Given the description of an element on the screen output the (x, y) to click on. 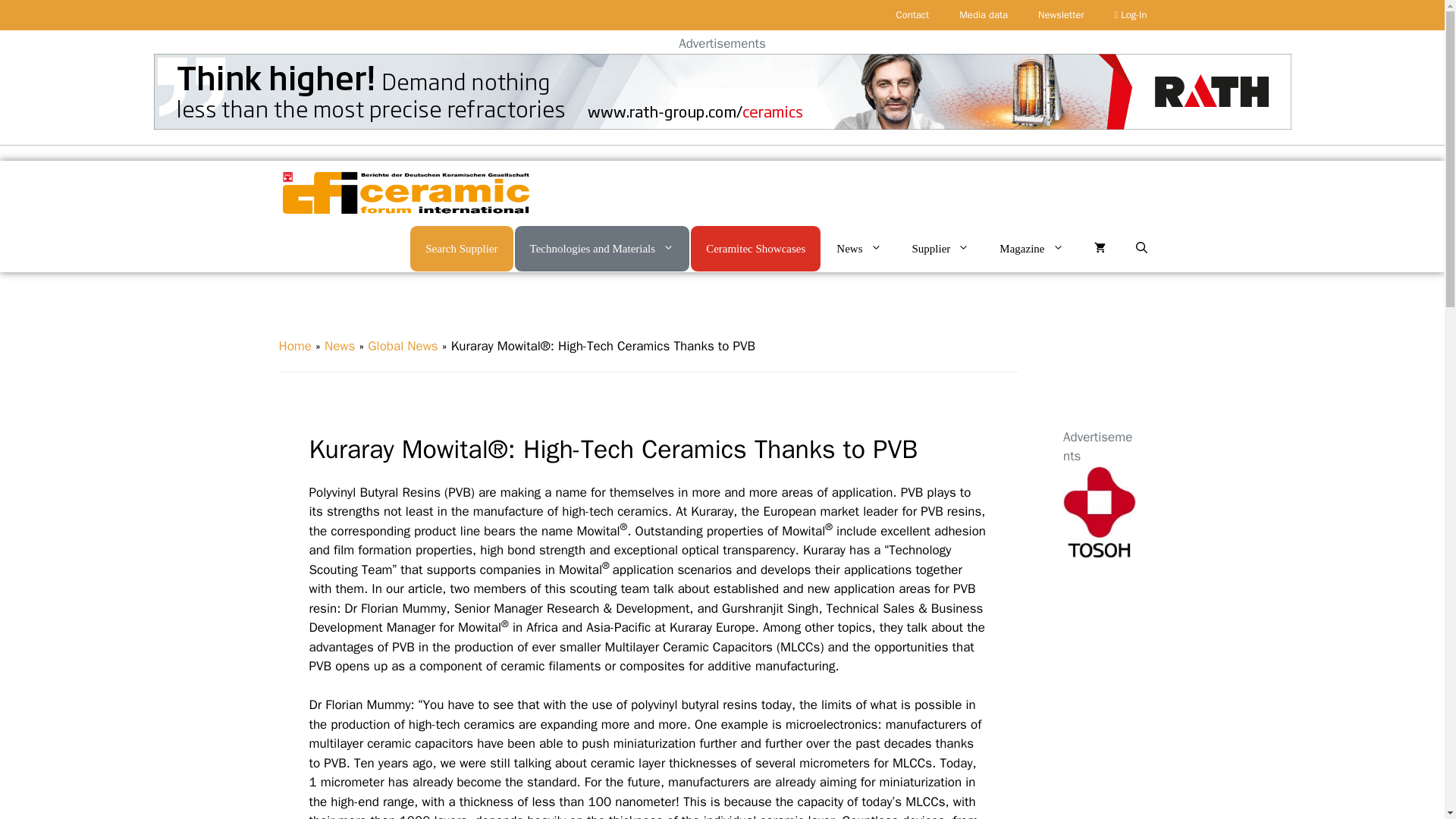
Supplier (940, 248)
Newsletter (1061, 15)
Log-In (1130, 15)
View your shopping cart (1098, 248)
Media data (983, 15)
Technologies and Materials (601, 247)
Search Supplier (461, 247)
cfi (405, 192)
News (858, 248)
Contact (912, 15)
Ceramitec Showcases (755, 247)
